Given the description of an element on the screen output the (x, y) to click on. 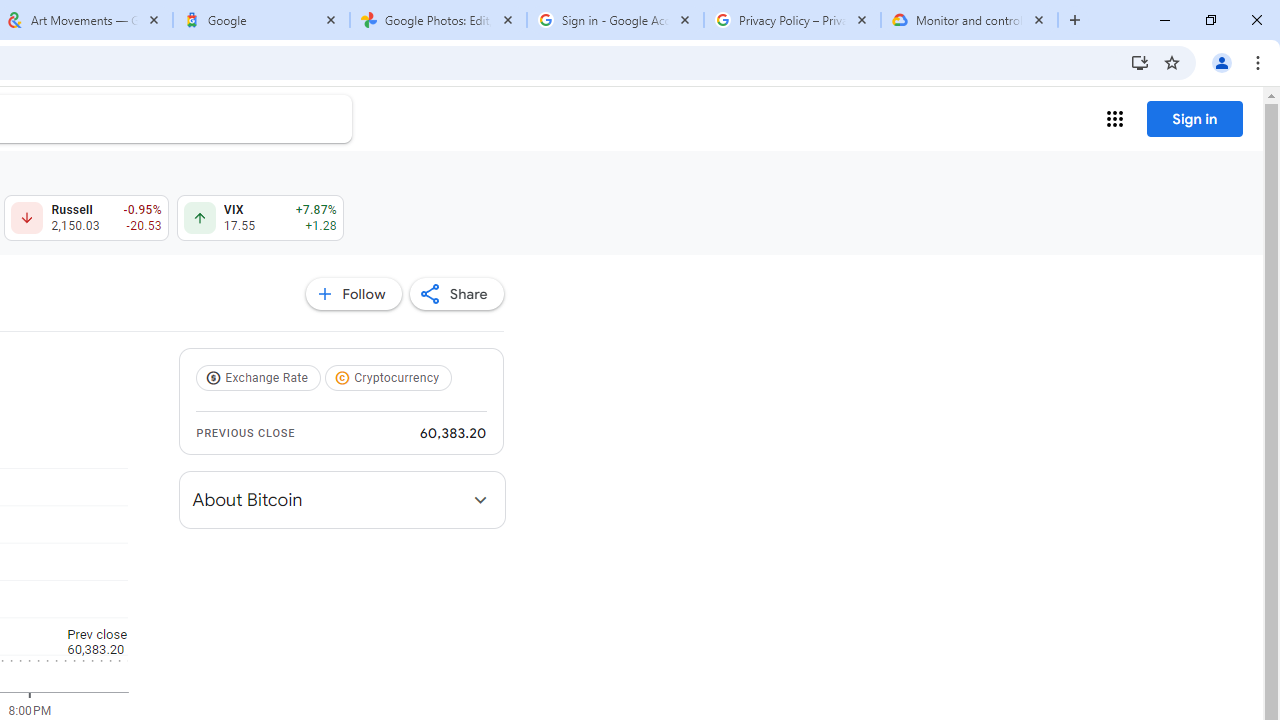
Russell 2,150.03 Down by 0.95% -20.53 (85, 218)
VIX 17.55 Up by 7.87% +1.28 (260, 218)
Share (456, 293)
Exchange Rate (260, 377)
